Given the description of an element on the screen output the (x, y) to click on. 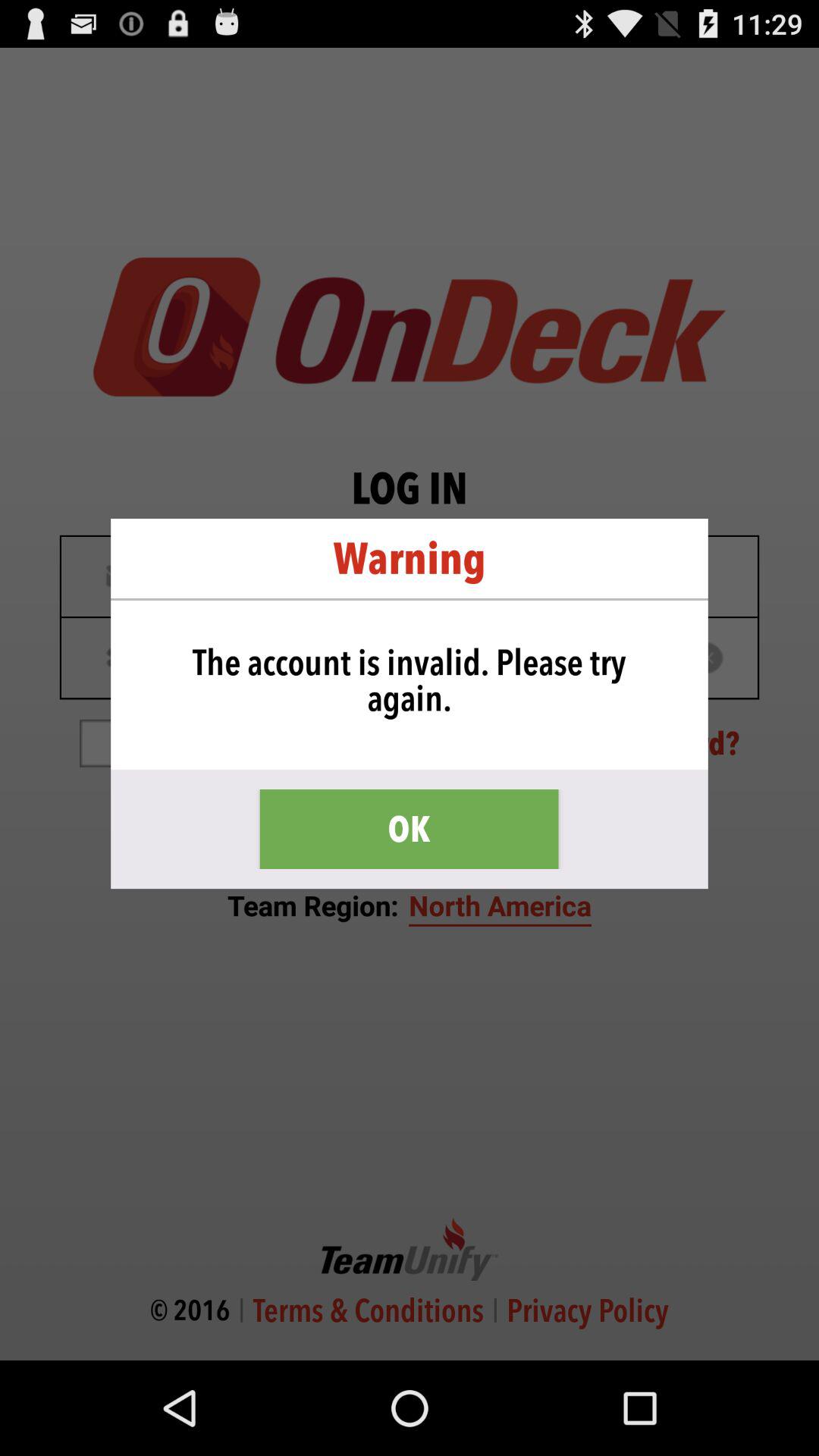
choose ok item (408, 829)
